Given the description of an element on the screen output the (x, y) to click on. 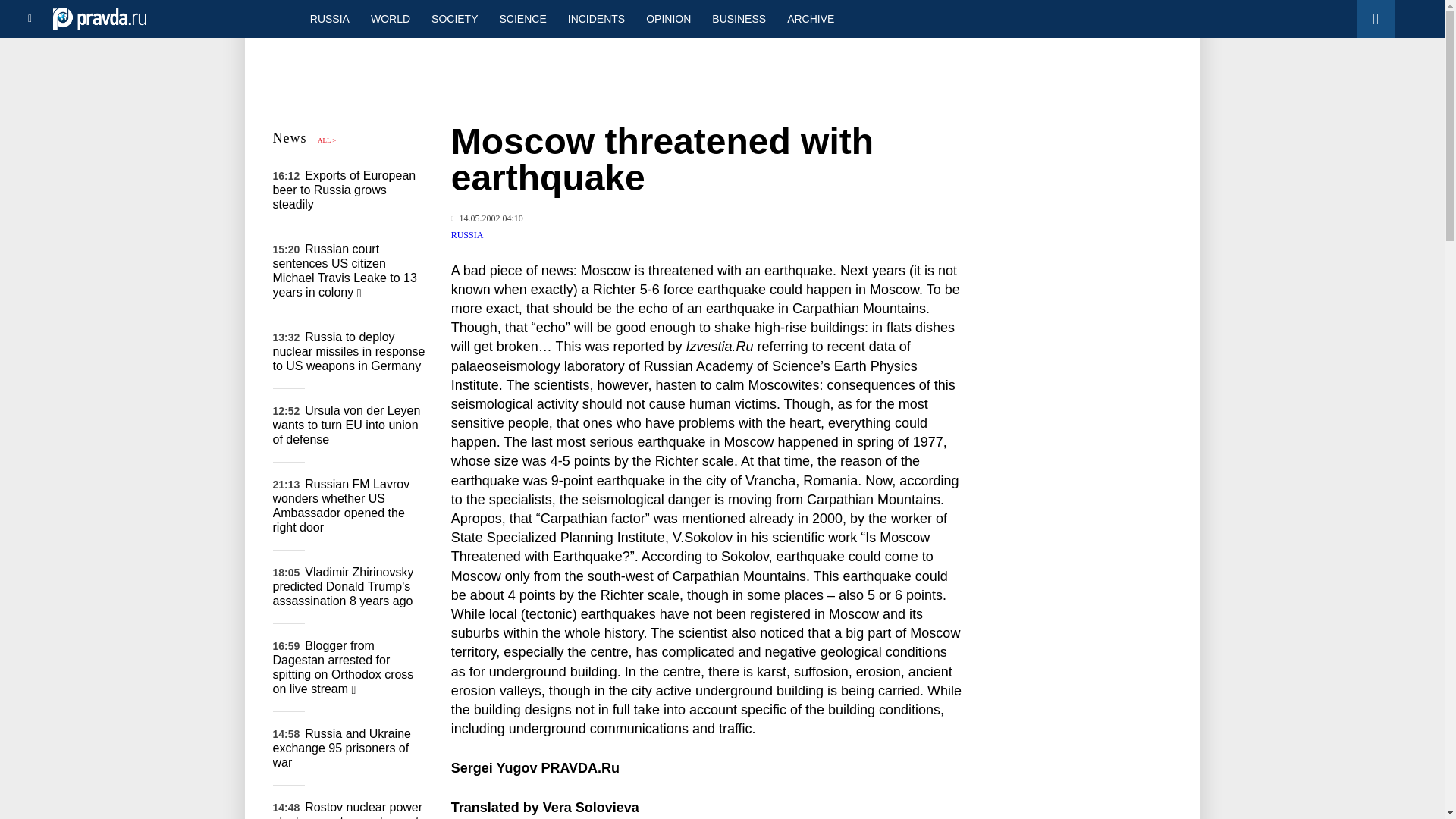
SCIENCE (523, 18)
RUSSIA (329, 18)
WORLD (389, 18)
OPINION (667, 18)
SOCIETY (453, 18)
Exports of European beer to Russia grows steadily (344, 189)
Russia and Ukraine exchange 95 prisoners of war (341, 748)
ARCHIVE (810, 18)
BUSINESS (738, 18)
News (290, 137)
INCIDENTS (595, 18)
